Given the description of an element on the screen output the (x, y) to click on. 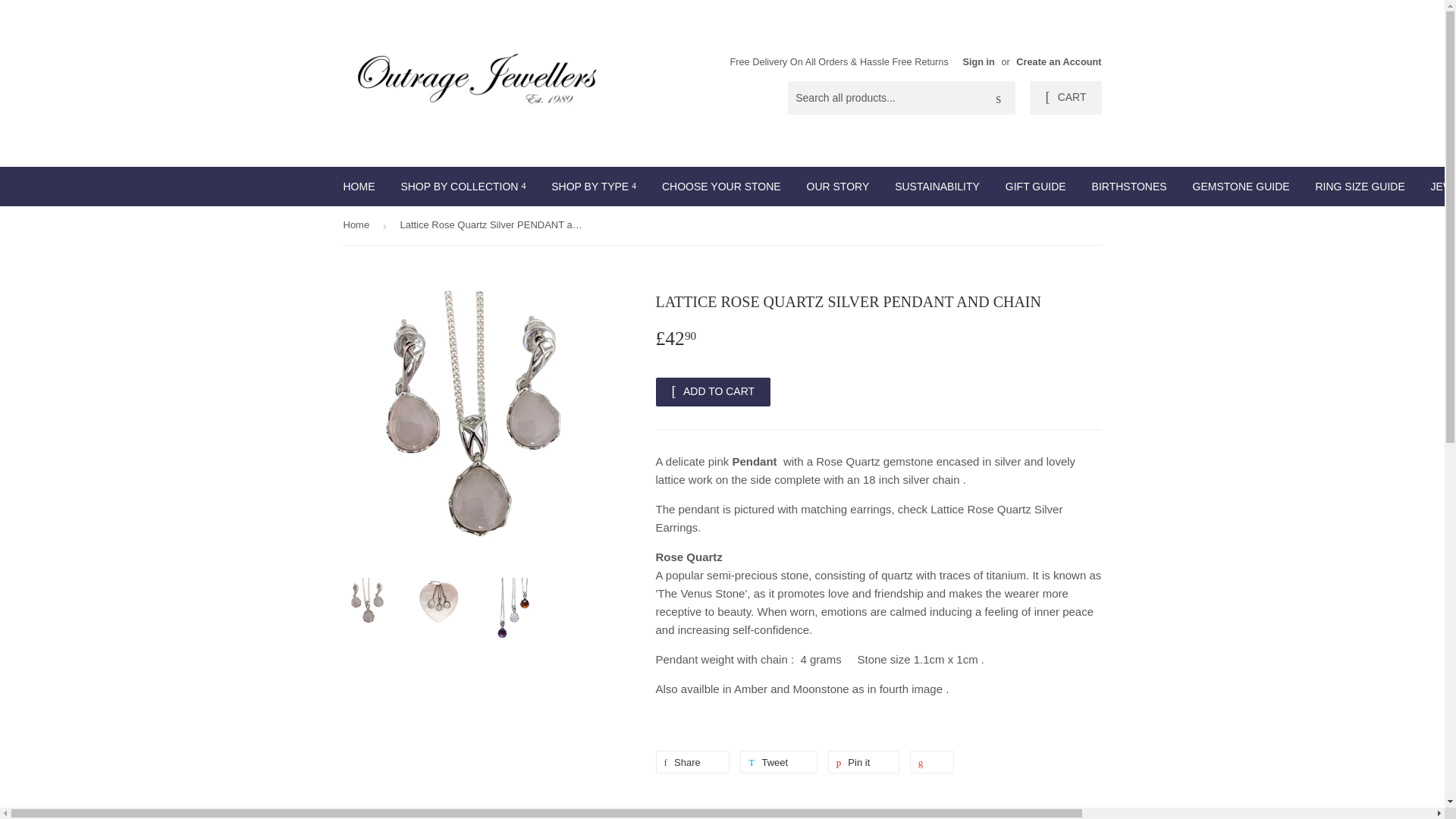
Search (997, 98)
HOME (359, 186)
SHOP BY COLLECTION (462, 186)
GIFT GUIDE (1035, 186)
BIRTHSTONES (1128, 186)
SUSTAINABILITY (937, 186)
CART (1064, 97)
SHOP BY TYPE (593, 186)
GEMSTONE GUIDE (1240, 186)
RING SIZE GUIDE (1359, 186)
Create an Account (1058, 61)
CHOOSE YOUR STONE (721, 186)
JEWELLERY CARE GUIDE (1437, 186)
OUR STORY (837, 186)
Sign in (978, 61)
